Given the description of an element on the screen output the (x, y) to click on. 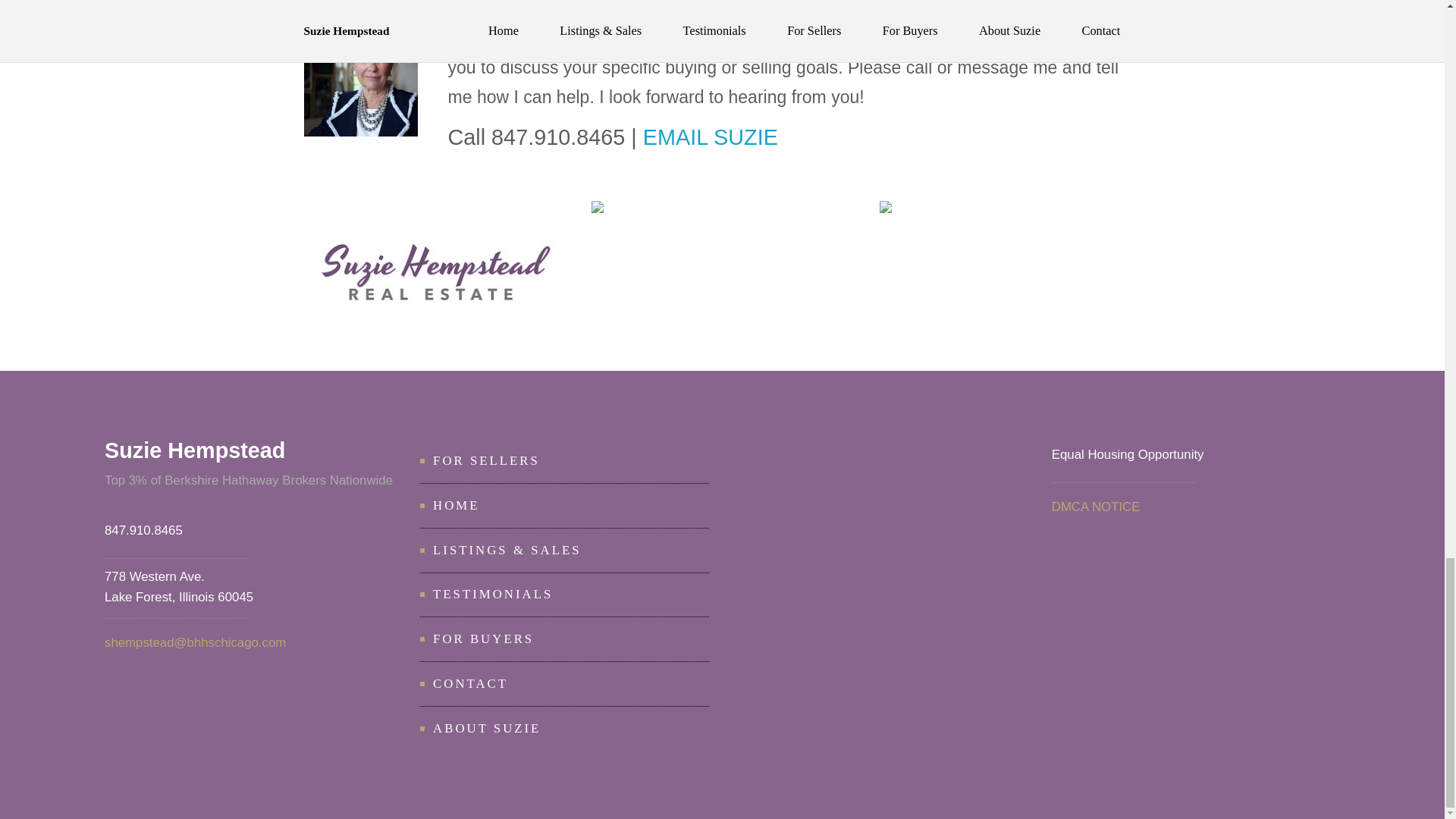
FOR SELLERS (486, 460)
ABOUT SUZIE (486, 728)
CONTACT (470, 683)
HOME (455, 504)
TESTIMONIALS (492, 594)
FOR BUYERS (483, 638)
DMCA NOTICE (1095, 506)
EMAIL SUZIE (710, 137)
